Given the description of an element on the screen output the (x, y) to click on. 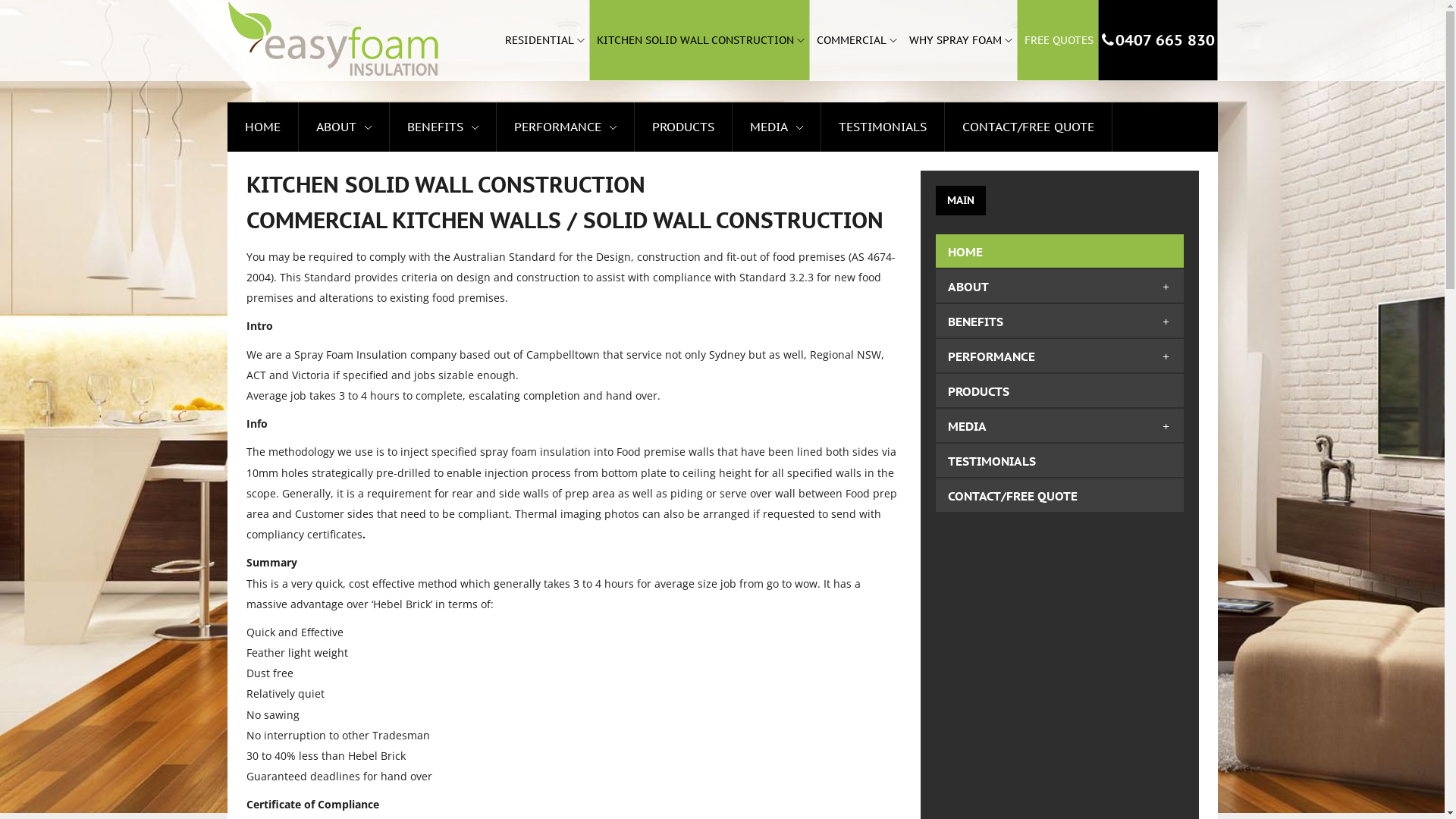
MEDIA Element type: text (768, 126)
MEDIA Element type: text (966, 425)
HOME Element type: text (964, 251)
PERFORMANCE Element type: text (557, 126)
TESTIMONIALS Element type: text (882, 126)
CONTACT/FREE QUOTE Element type: text (1027, 126)
BENEFITS Element type: text (441, 126)
TESTIMONIALS Element type: text (991, 460)
HOME Element type: text (261, 126)
TESTIMONIALS Element type: text (882, 126)
PERFORMANCE Element type: text (991, 356)
HOME Element type: text (261, 126)
BENEFITS Element type: text (975, 321)
PRODUCTS Element type: text (683, 126)
BENEFITS Element type: text (434, 126)
PRODUCTS Element type: text (683, 126)
ABOUT Element type: text (967, 286)
PERFORMANCE Element type: text (565, 126)
COMMERCIAL Element type: text (855, 40)
ABOUT Element type: text (335, 126)
CONTACT/FREE QUOTE Element type: text (1027, 126)
RESIDENTIAL Element type: text (543, 40)
KITCHEN SOLID WALL CONSTRUCTION Element type: text (699, 40)
FREE QUOTES Element type: text (1057, 40)
CONTACT/FREE QUOTE Element type: text (1012, 495)
MEDIA Element type: text (775, 126)
WHY SPRAY FOAM Element type: text (959, 40)
ABOUT Element type: text (342, 126)
PRODUCTS Element type: text (978, 390)
